Given the description of an element on the screen output the (x, y) to click on. 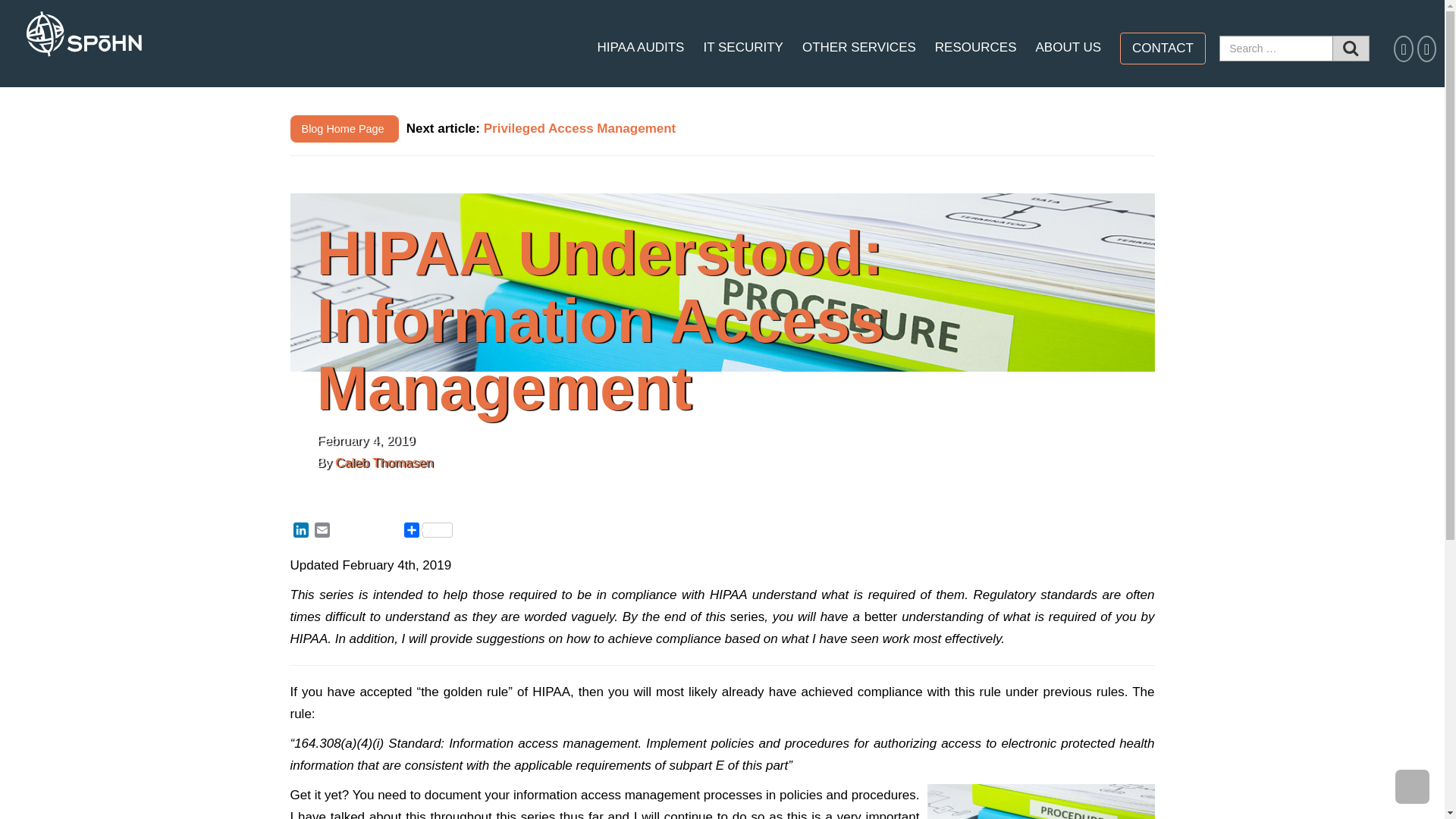
Blog Home Page (343, 128)
Search (1351, 48)
Email (321, 531)
OTHER SERVICES (858, 47)
HIPAA AUDITS (640, 47)
ABOUT US (1068, 47)
CONTACT (1163, 48)
LinkedIn (300, 531)
Email (321, 531)
Search (1351, 48)
